Given the description of an element on the screen output the (x, y) to click on. 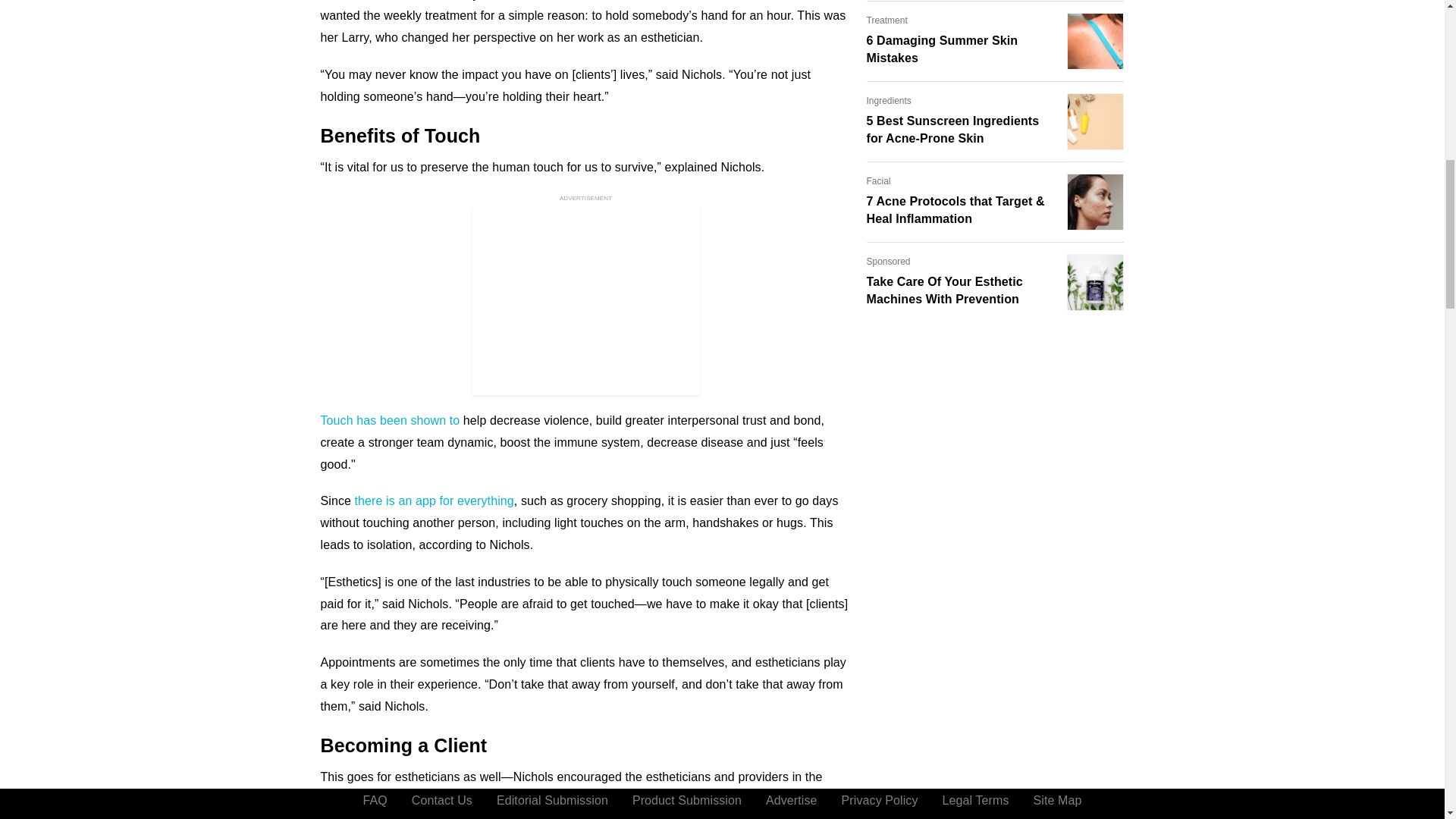
Treatment (886, 20)
3rd party ad content (584, 299)
